Given the description of an element on the screen output the (x, y) to click on. 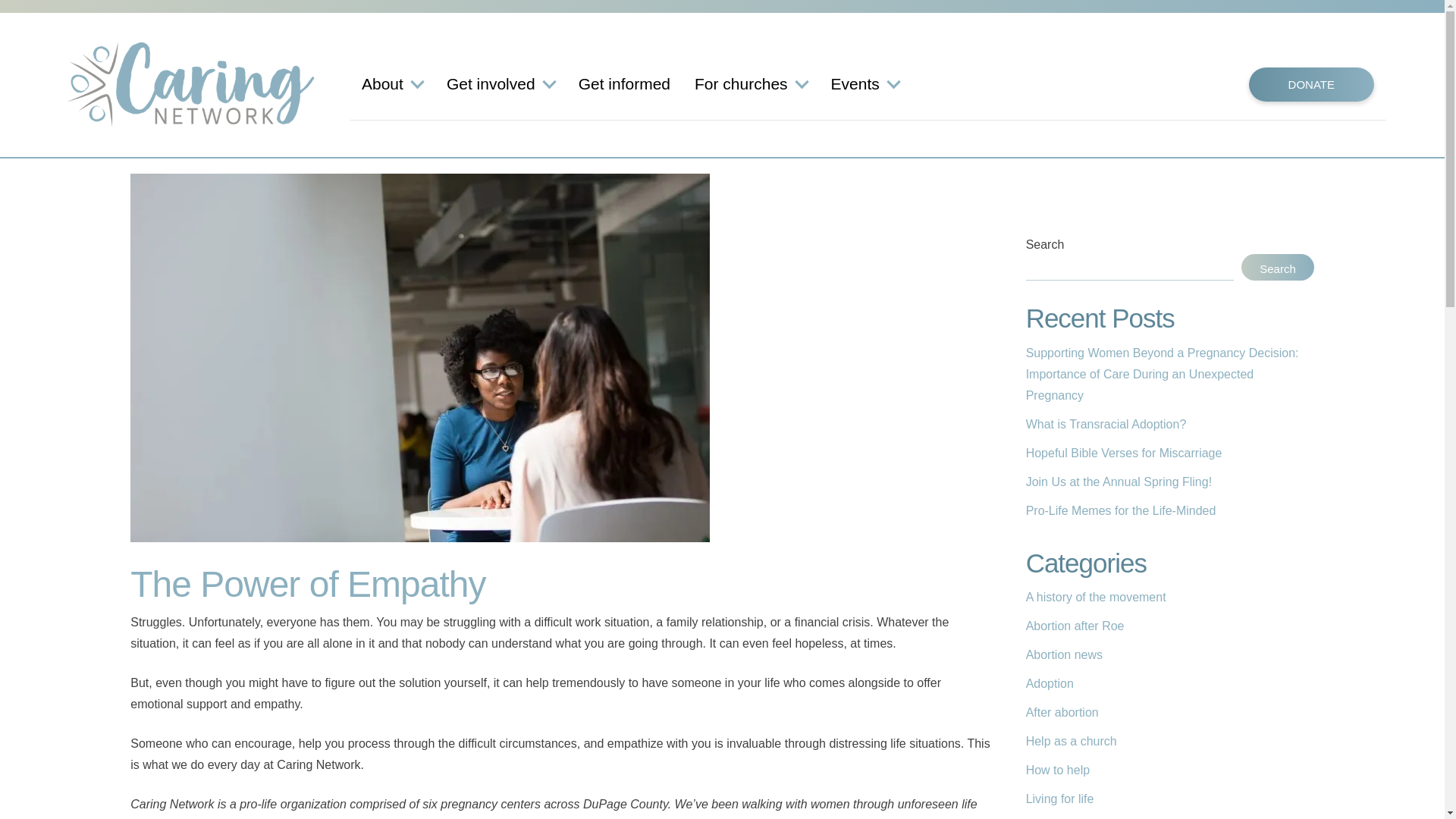
About (391, 84)
For churches (750, 84)
Events (864, 84)
Get informed (623, 84)
DONATE (1311, 83)
Get involved (500, 84)
